Given the description of an element on the screen output the (x, y) to click on. 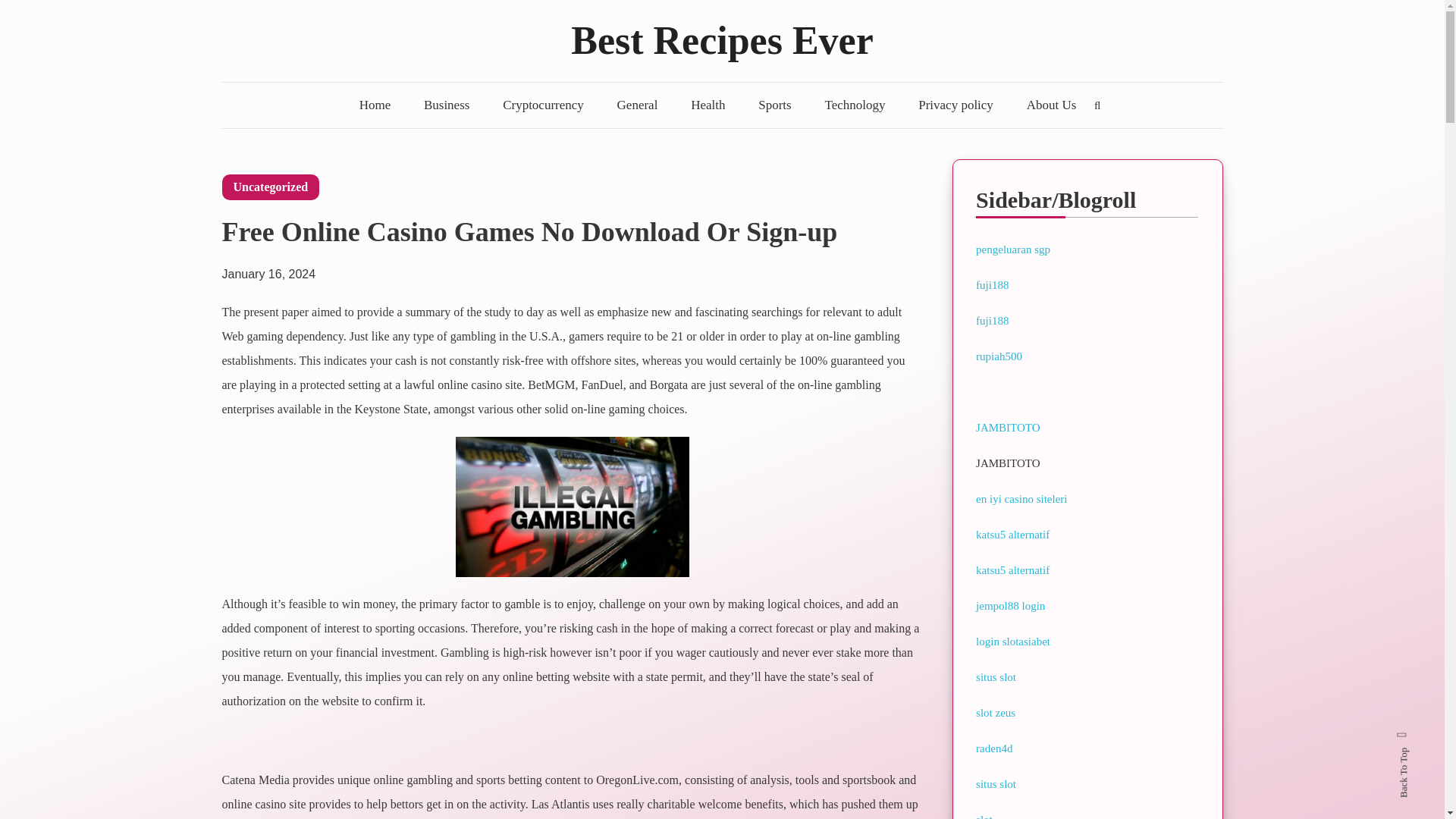
Privacy policy (955, 104)
situs slot (995, 676)
Home (374, 104)
en iyi casino siteleri (1021, 499)
Health (707, 104)
Uncategorized (269, 186)
Cryptocurrency (542, 104)
rupiah500 (998, 356)
Sports (774, 104)
About Us (1051, 104)
